Given the description of an element on the screen output the (x, y) to click on. 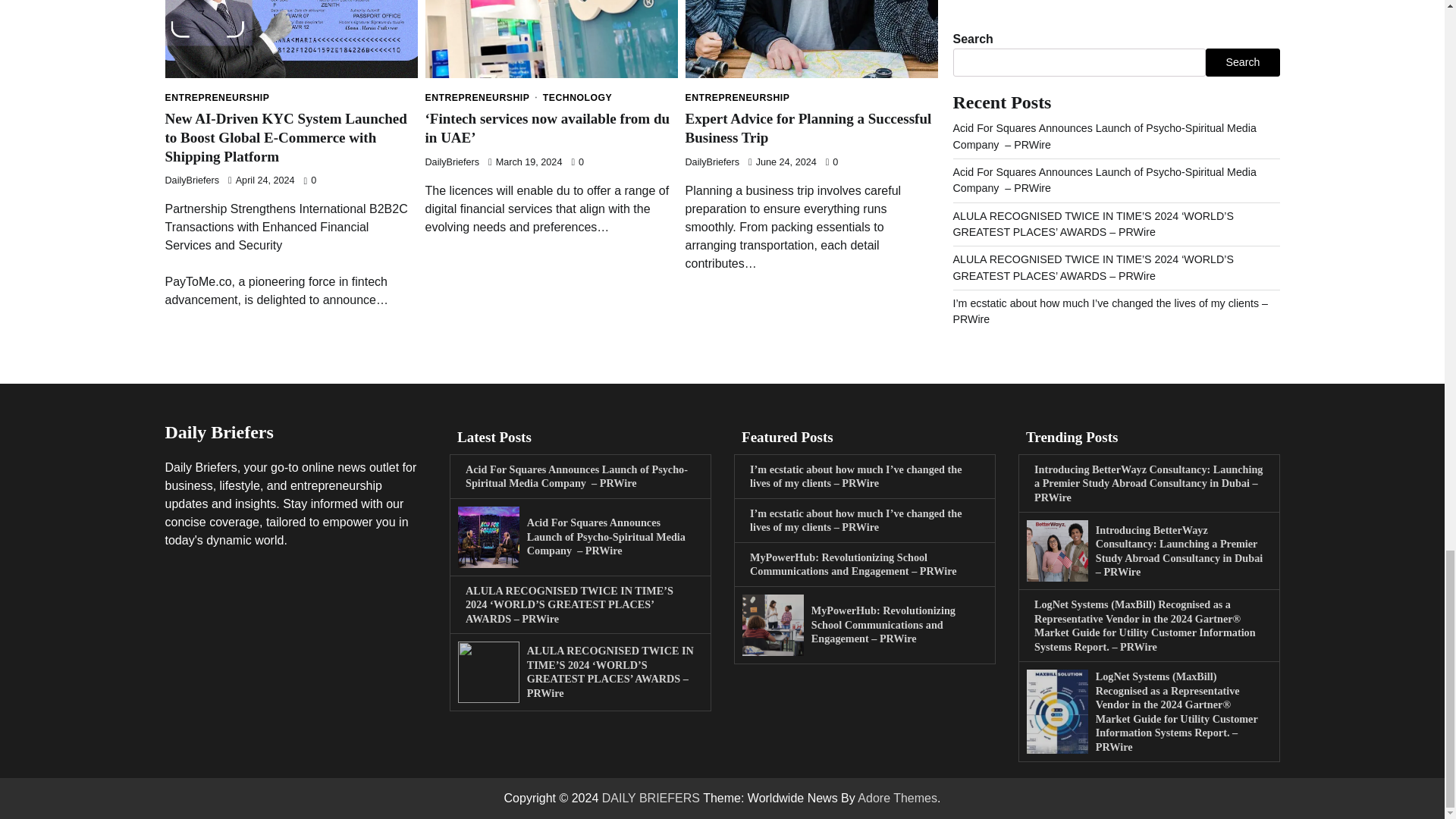
ENTREPRENEURSHIP (217, 97)
TECHNOLOGY (577, 97)
DailyBriefers (192, 180)
DailyBriefers (712, 162)
Expert Advice for Planning a Successful Business Trip (808, 127)
ENTREPRENEURSHIP (481, 97)
ENTREPRENEURSHIP (737, 97)
DailyBriefers (452, 162)
